Given the description of an element on the screen output the (x, y) to click on. 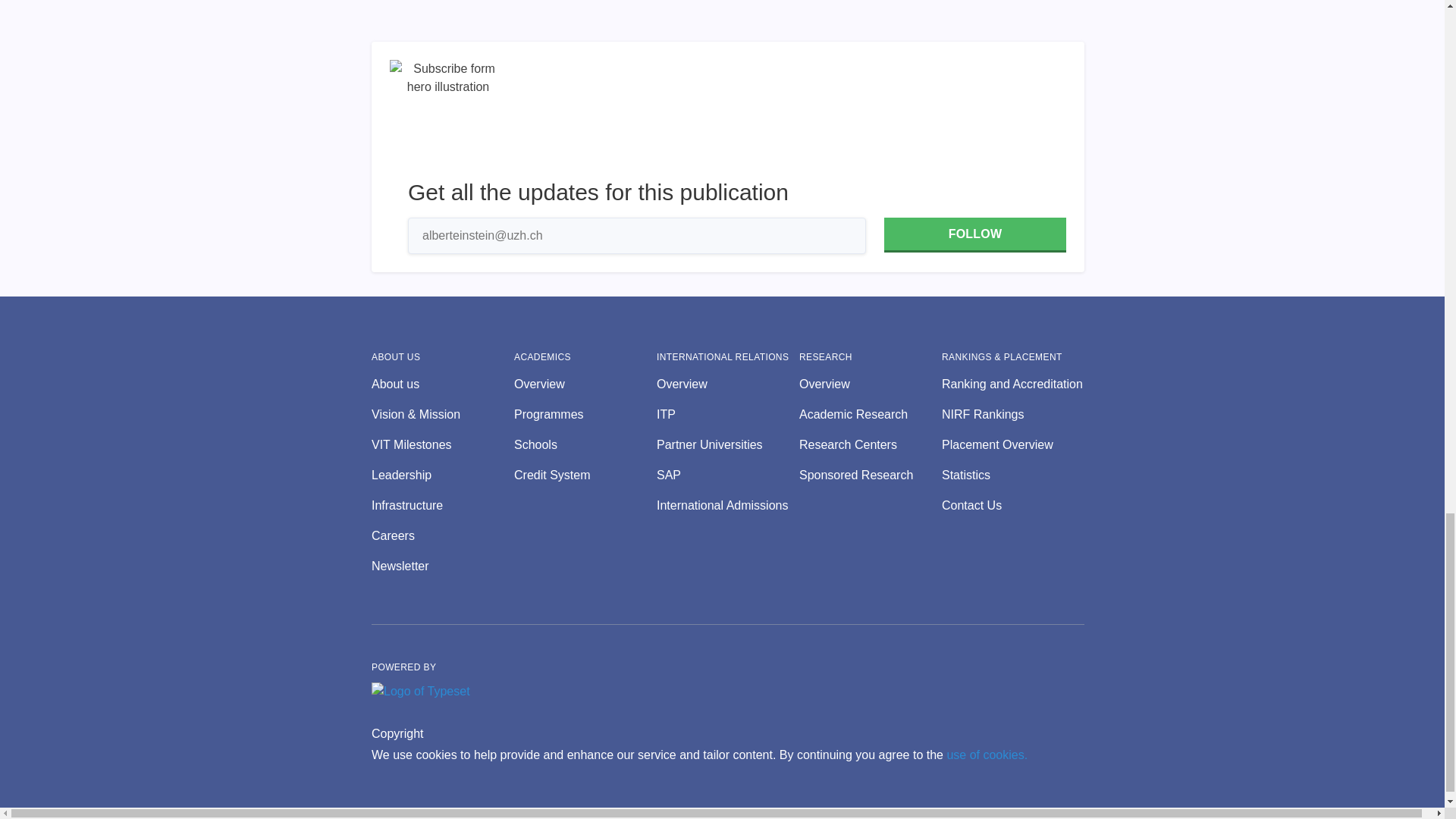
FOLLOW (974, 234)
SAP (727, 475)
ITP (727, 414)
Overview (870, 384)
Newsletter (442, 566)
Credit System (584, 475)
Careers (442, 536)
Schools (584, 444)
Logo of Typeset (420, 691)
About us (442, 384)
